Given the description of an element on the screen output the (x, y) to click on. 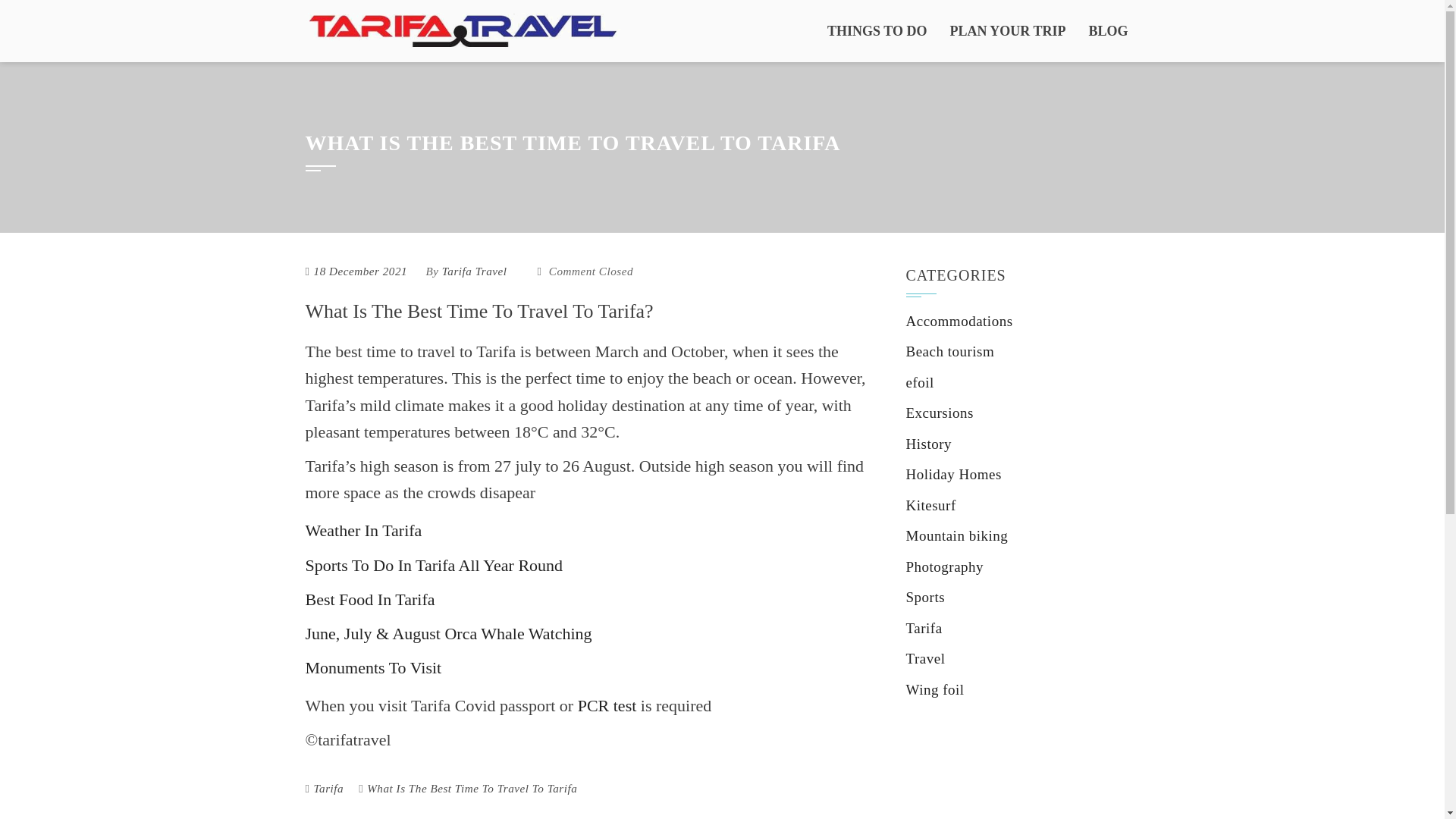
BLOG (1107, 31)
Travel (924, 658)
Monuments To Visit (372, 667)
PCR test (609, 705)
Beach tourism (949, 351)
Mountain biking (956, 535)
What Is The Best Time To Travel To Tarifa (471, 788)
Excursions (938, 412)
Best Food In Tarifa (368, 599)
efoil (919, 382)
Tarifa Travel (474, 270)
History (928, 443)
Accommodations (958, 320)
Photography (944, 566)
THINGS TO DO (876, 31)
